Given the description of an element on the screen output the (x, y) to click on. 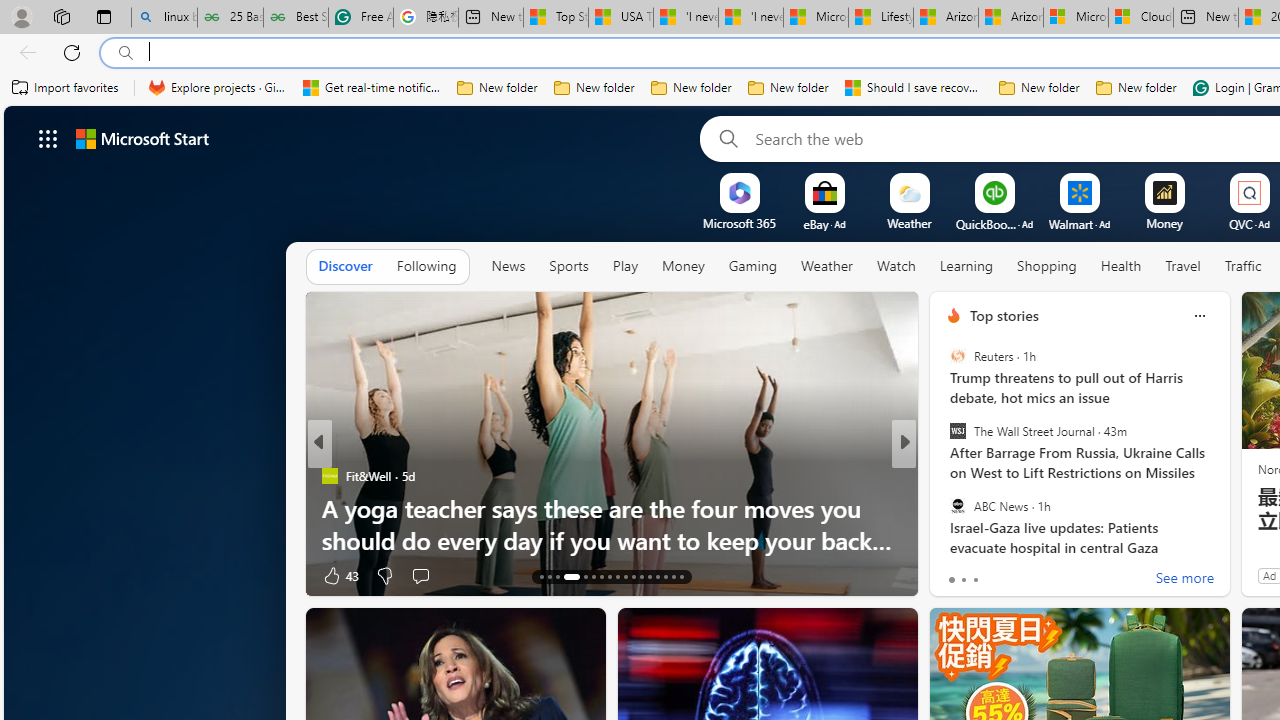
Class: icon-img (1199, 316)
ABC News (957, 505)
AutomationID: tab-24 (641, 576)
Class: control (47, 138)
View comments 202 Comment (1054, 574)
Gaming (752, 267)
Weather (826, 267)
Microsoft start (142, 138)
